Given the description of an element on the screen output the (x, y) to click on. 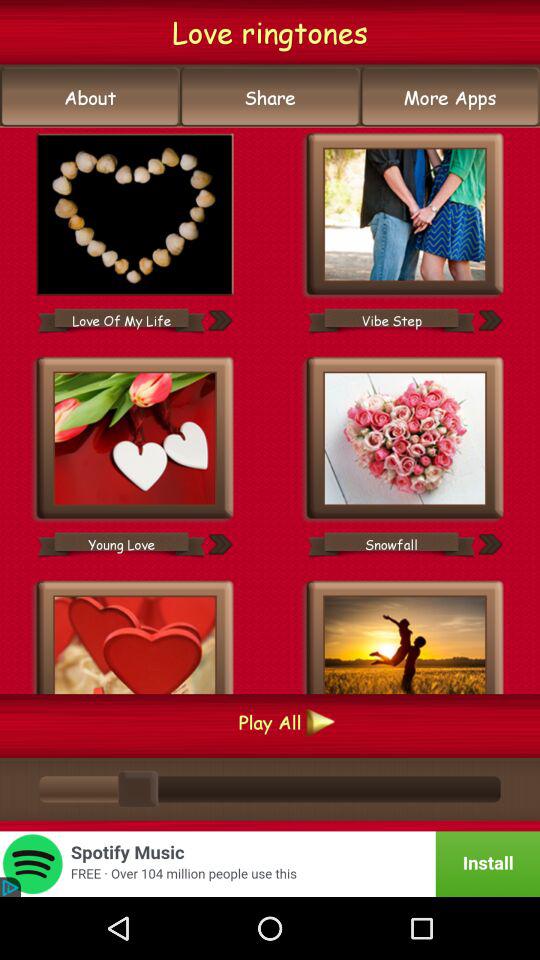
open icon to the left of the more apps item (270, 97)
